Given the description of an element on the screen output the (x, y) to click on. 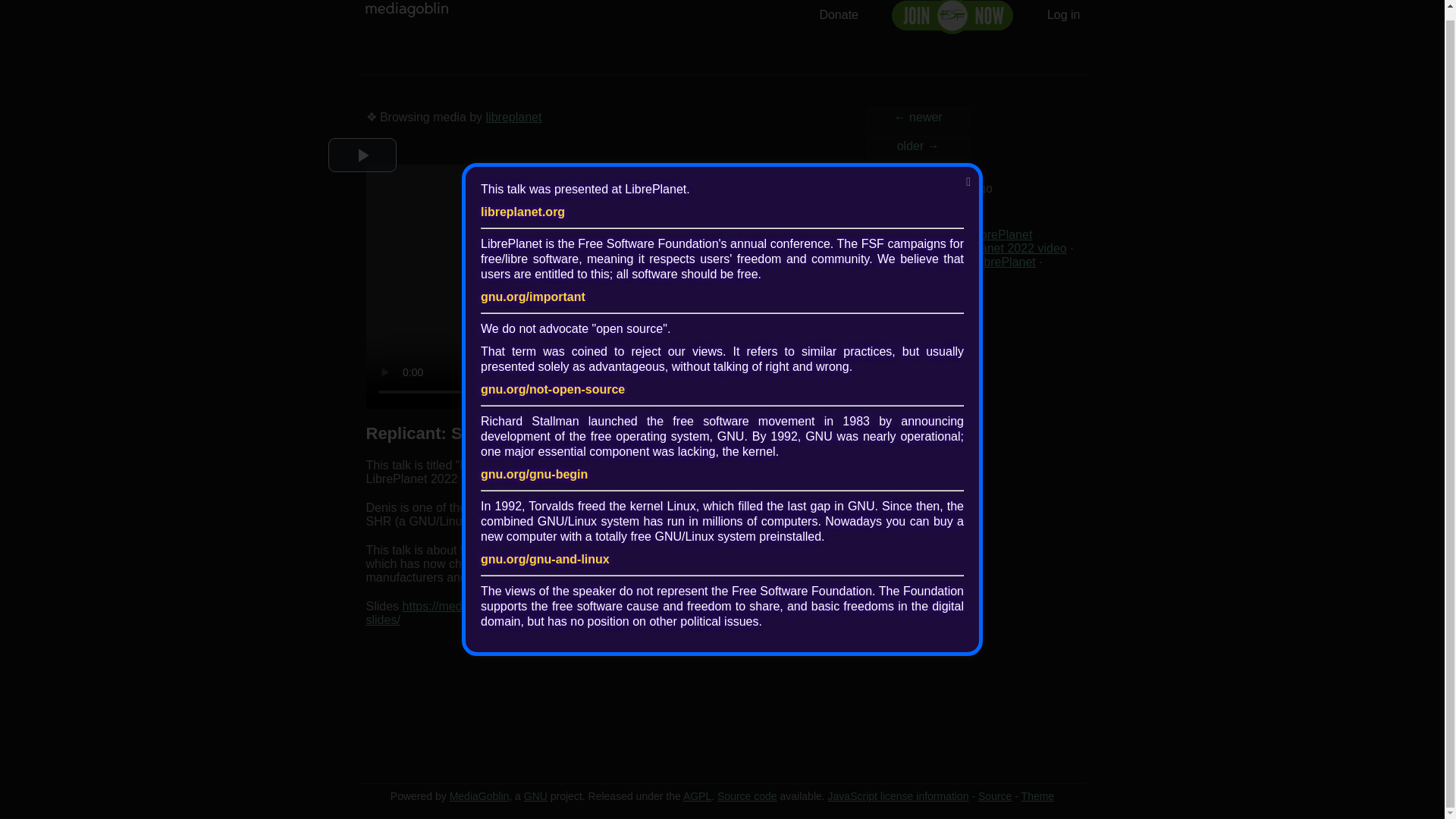
Theme (1038, 796)
Play Video (361, 154)
LibrePlanet 2022 (917, 261)
Donate (838, 14)
Version 0.10.0 (479, 796)
Log in (1063, 14)
LibrePlanet (1004, 261)
video (932, 275)
LibrePlanet 2022 video (1004, 247)
lp2022 (890, 275)
